Given the description of an element on the screen output the (x, y) to click on. 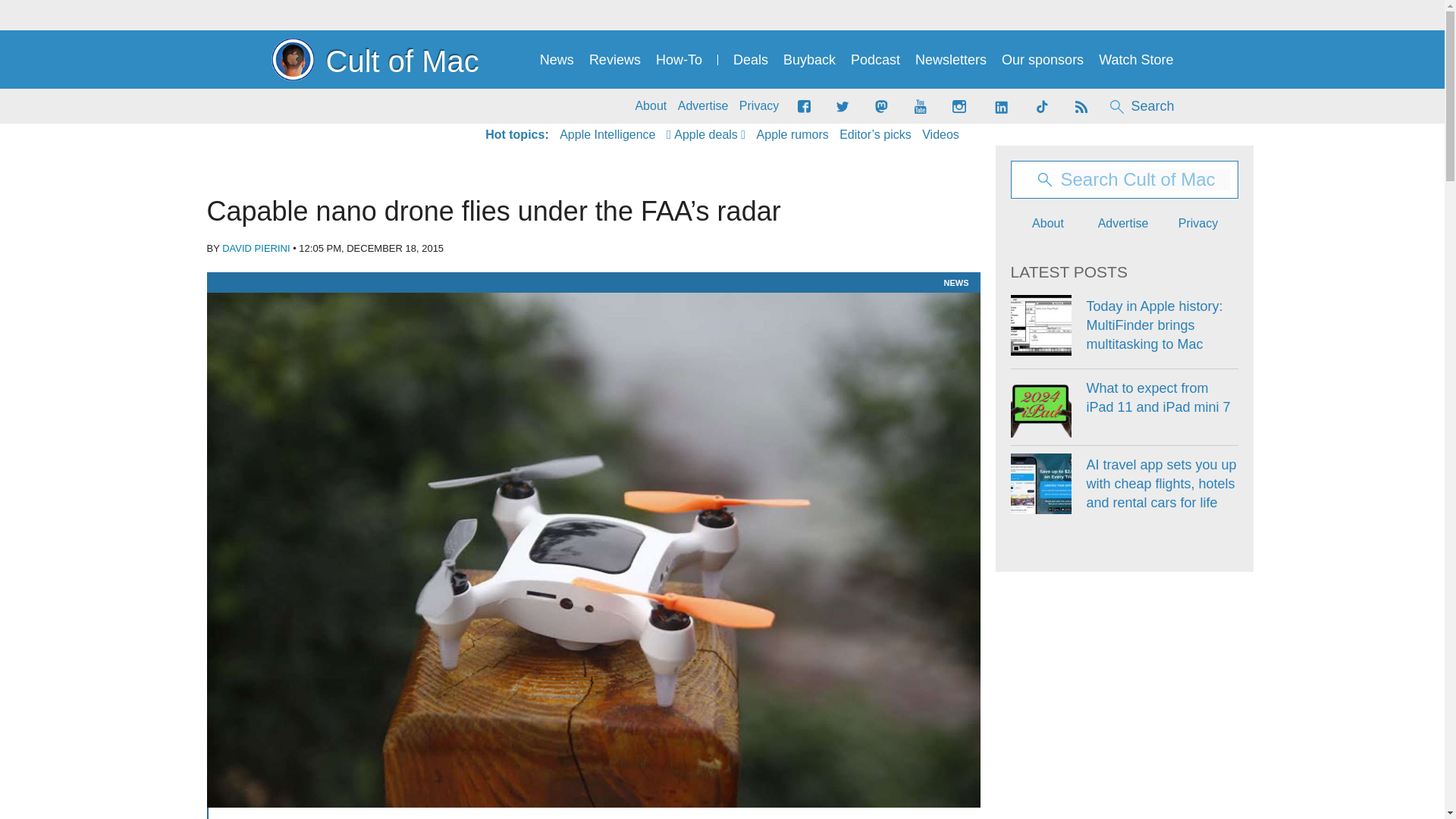
Hot topics: (516, 134)
Cult of Mac (374, 59)
Newsletters (950, 59)
Videos (940, 134)
Deals (750, 59)
Buyback (809, 59)
Apple deals  (705, 134)
Apple Intelligence (607, 134)
Privacy (758, 105)
How-To (678, 59)
